Given the description of an element on the screen output the (x, y) to click on. 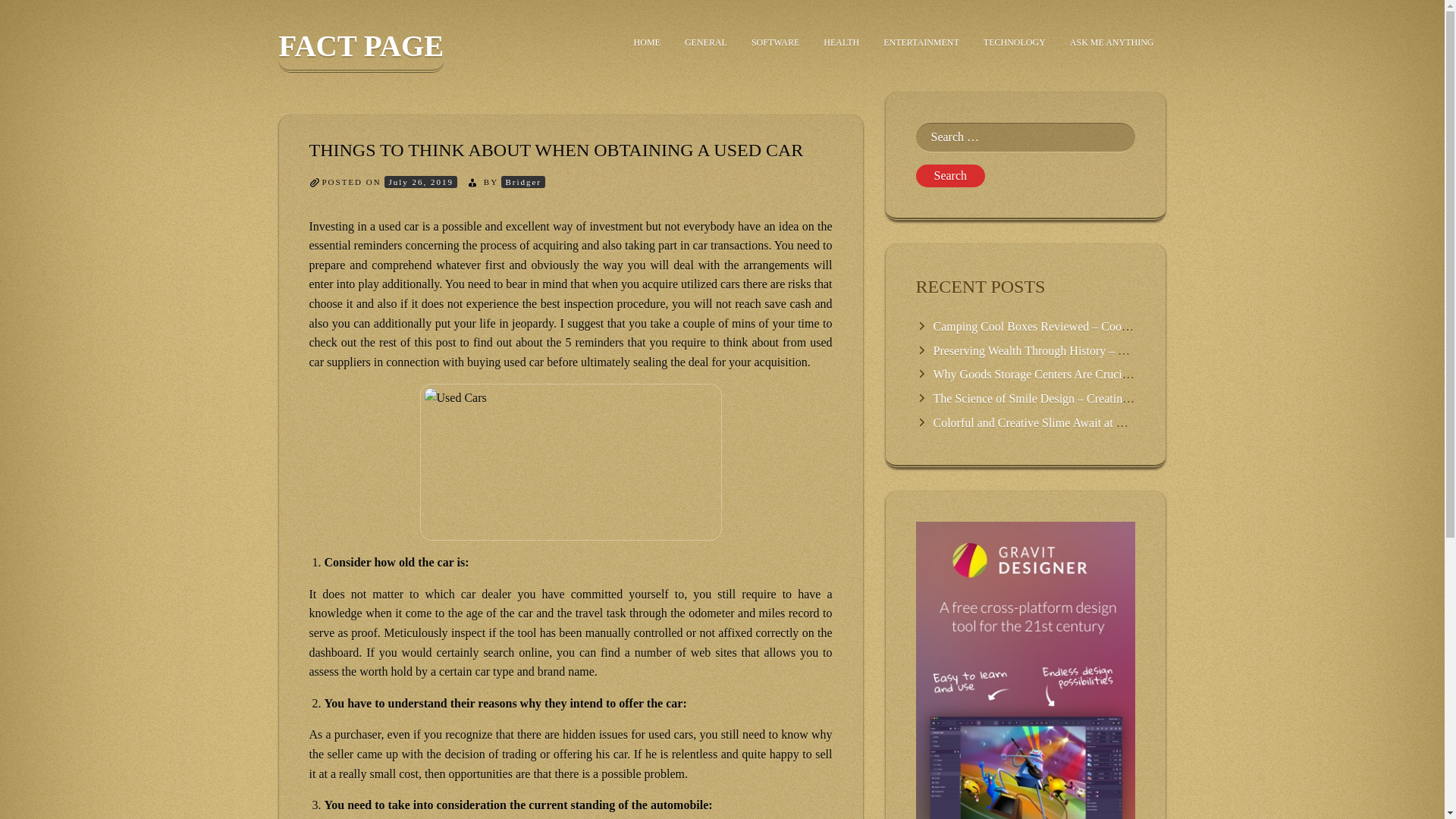
Search (950, 175)
ASK ME ANYTHING (1112, 42)
GENERAL (705, 42)
HOME (646, 42)
July 26, 2019 (420, 182)
Bridger (522, 182)
SOFTWARE (774, 42)
FACT PAGE (361, 50)
ENTERTAINMENT (920, 42)
Colorful and Creative Slime Await at Our Variety Shop (1066, 422)
HEALTH (840, 42)
Search (950, 175)
Search (950, 175)
